Given the description of an element on the screen output the (x, y) to click on. 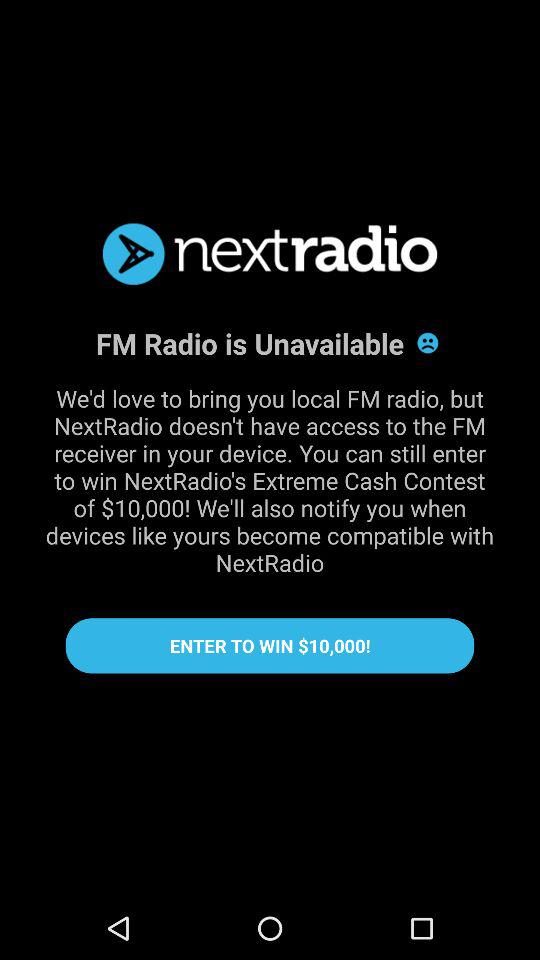
go directly to radio app (270, 253)
